Given the description of an element on the screen output the (x, y) to click on. 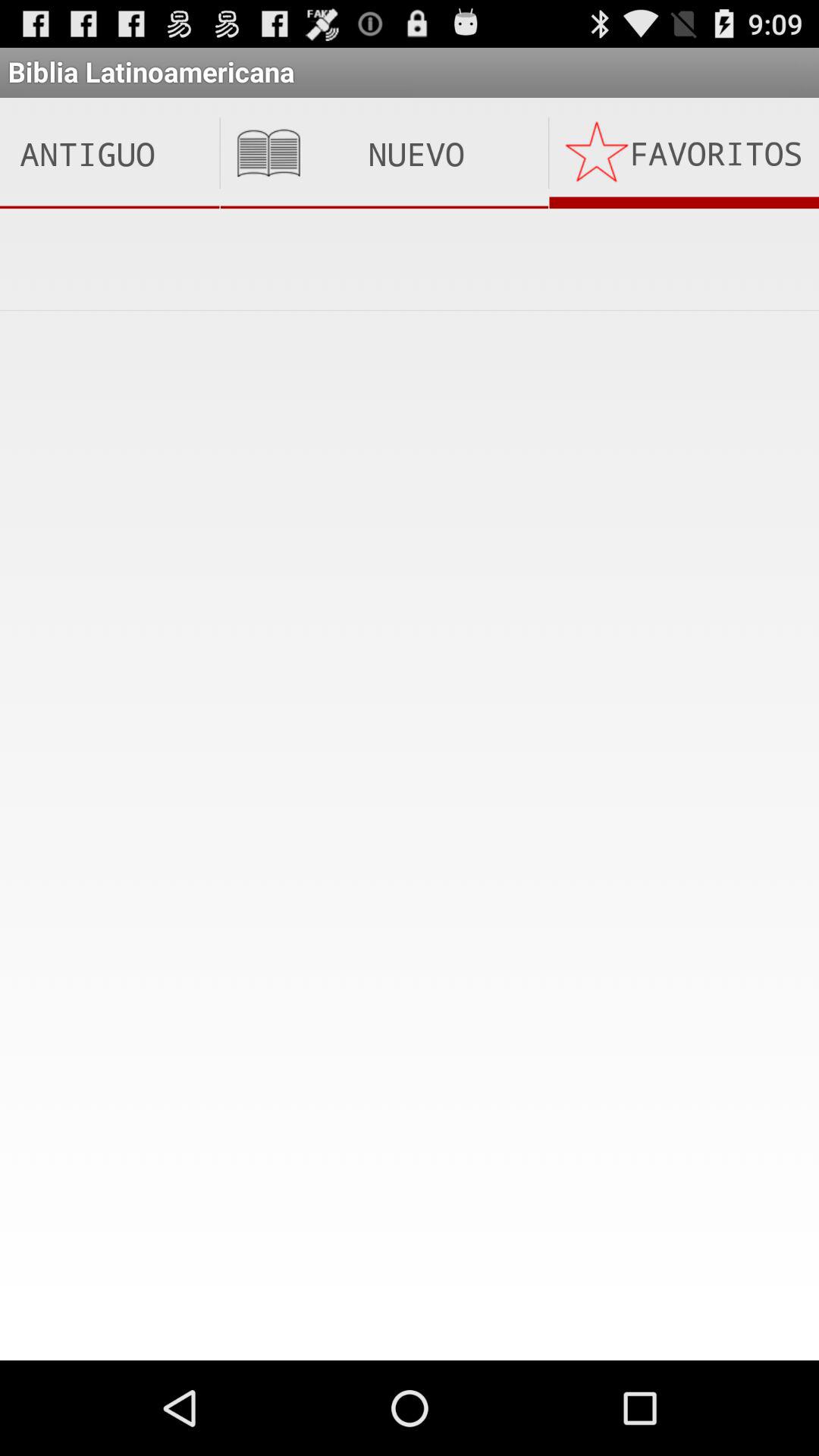
tap the icon below the biblia latinoamericana app (684, 152)
